Given the description of an element on the screen output the (x, y) to click on. 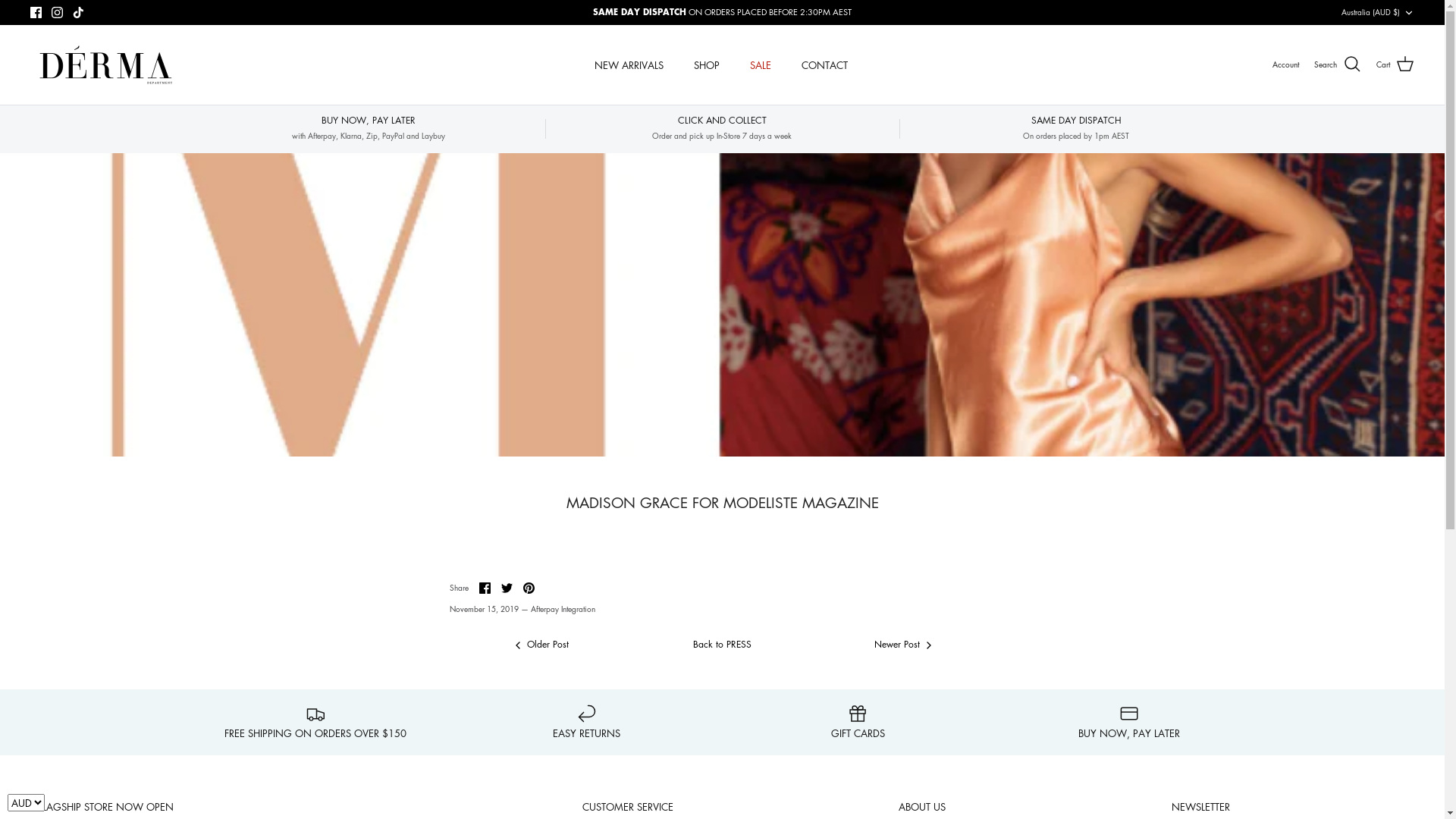
Facebook
Share on Facebook Element type: text (484, 587)
Cart Element type: text (1395, 64)
Back to PRESS Element type: text (722, 643)
NEW ARRIVALS Element type: text (628, 64)
Instagram Element type: text (56, 12)
Australia (AUD $)
Down Element type: text (1377, 12)
Newer Post Right Element type: text (903, 643)
Search Element type: text (1337, 64)
Pinterest
Pin it Element type: text (528, 587)
Account Element type: text (1285, 64)
Facebook Element type: text (35, 12)
SALE Element type: text (760, 64)
Derma Department Pty Ltd Element type: hover (106, 64)
Twitter
Share on Twitter Element type: text (505, 587)
SHOP Element type: text (706, 64)
CONTACT Element type: text (824, 64)
Left Older Post Element type: text (539, 643)
